Given the description of an element on the screen output the (x, y) to click on. 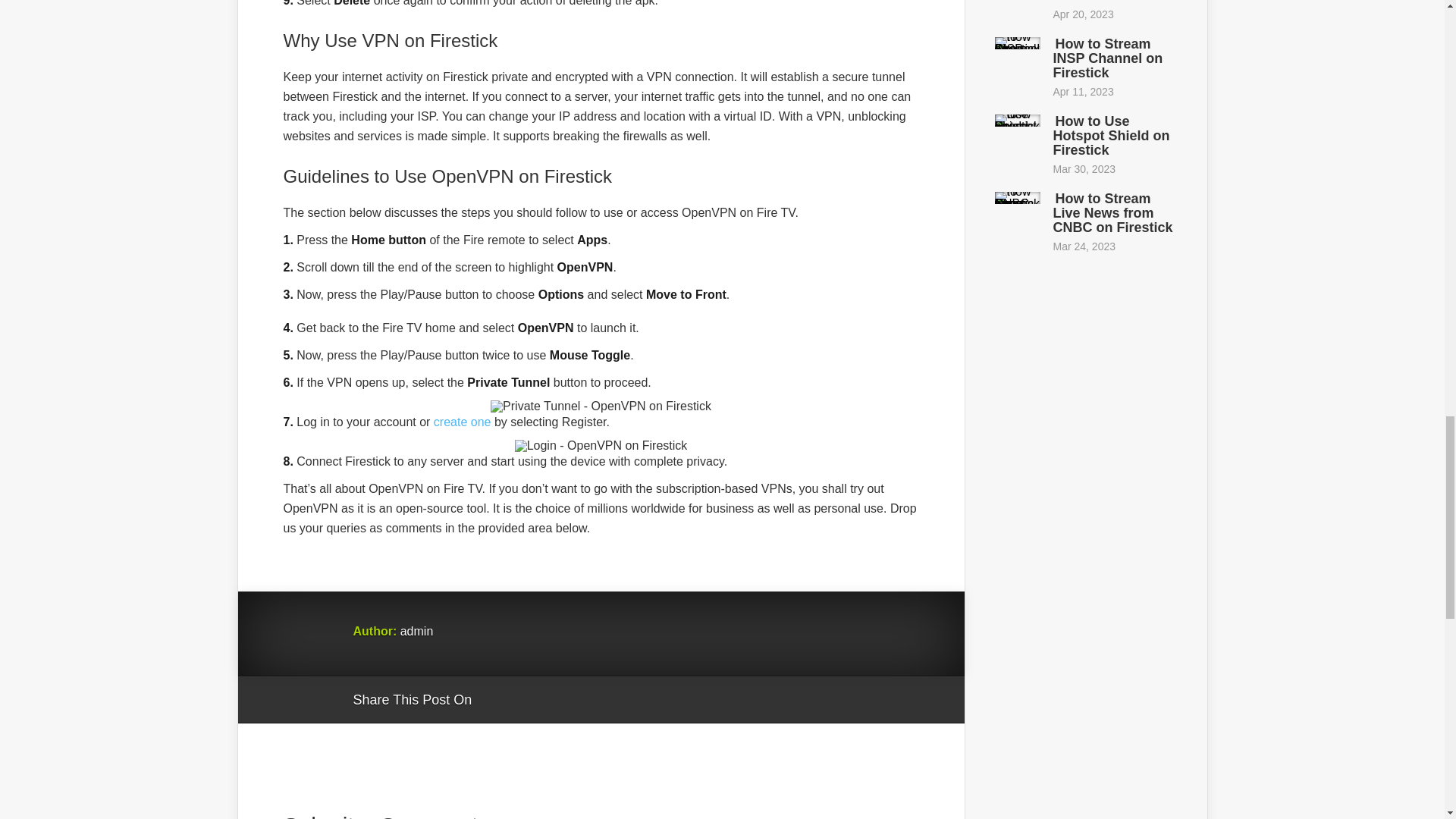
Google (498, 700)
create one (462, 421)
How to Add and Activate Telemundo on Firestick (1104, 1)
Facebook (526, 700)
Twitter (555, 700)
